Given the description of an element on the screen output the (x, y) to click on. 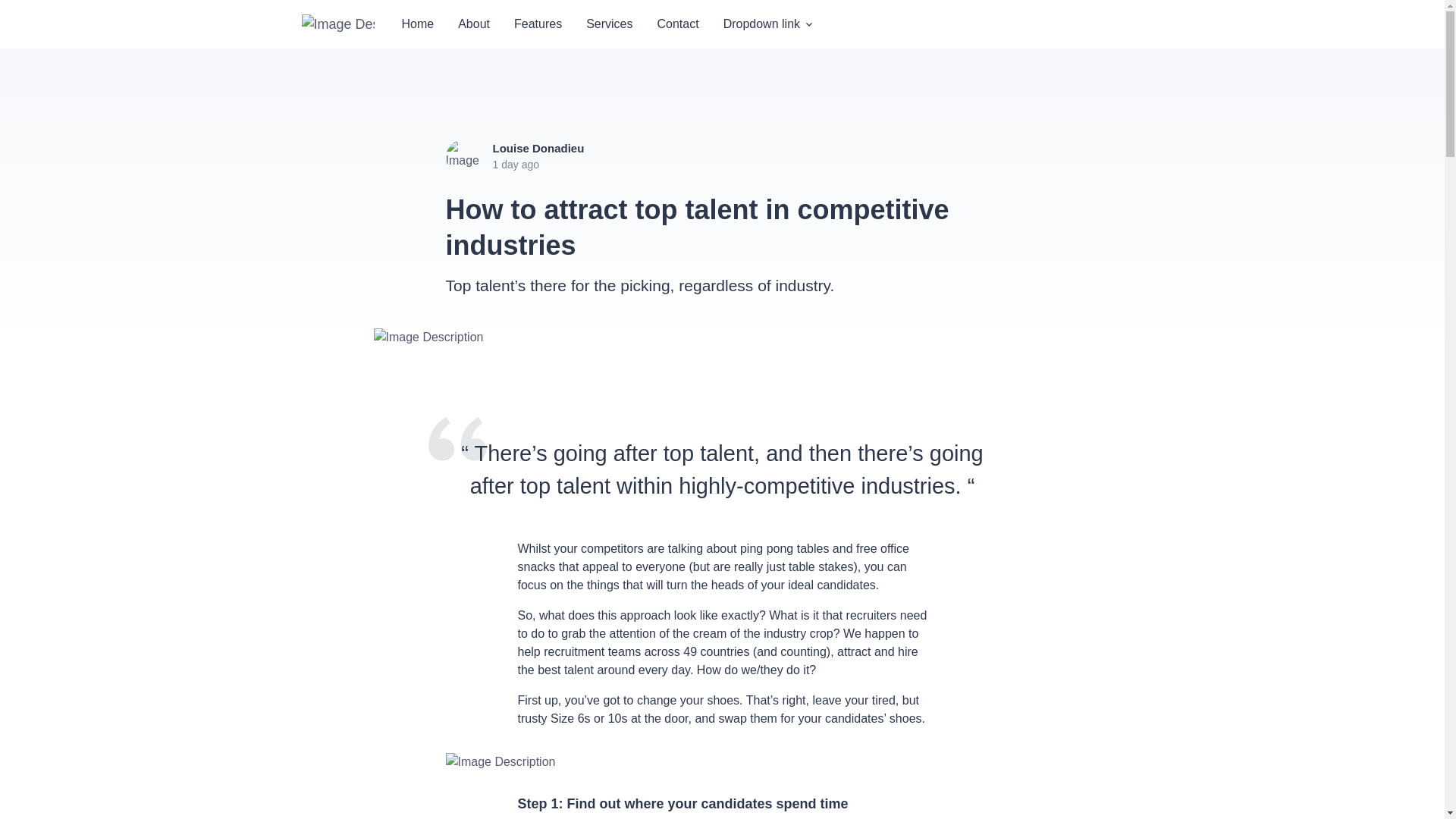
Contact (677, 24)
Louise Donadieu (539, 148)
Home (418, 24)
Services (609, 24)
About (473, 24)
Features (537, 24)
Dropdown link (769, 24)
